Given the description of an element on the screen output the (x, y) to click on. 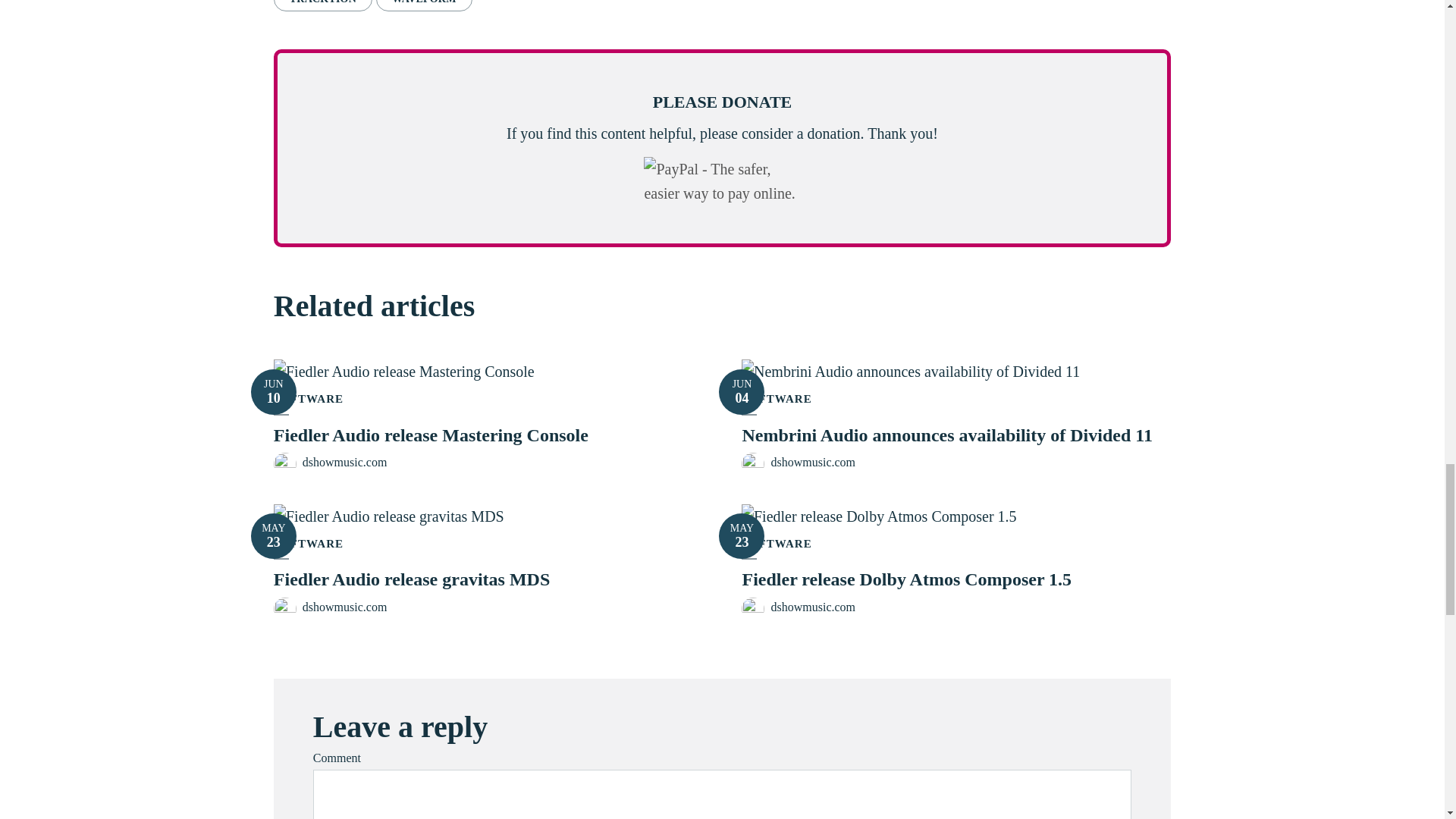
WAVEFORM (423, 5)
TRACKTION (273, 391)
SOFTWARE (322, 5)
